Given the description of an element on the screen output the (x, y) to click on. 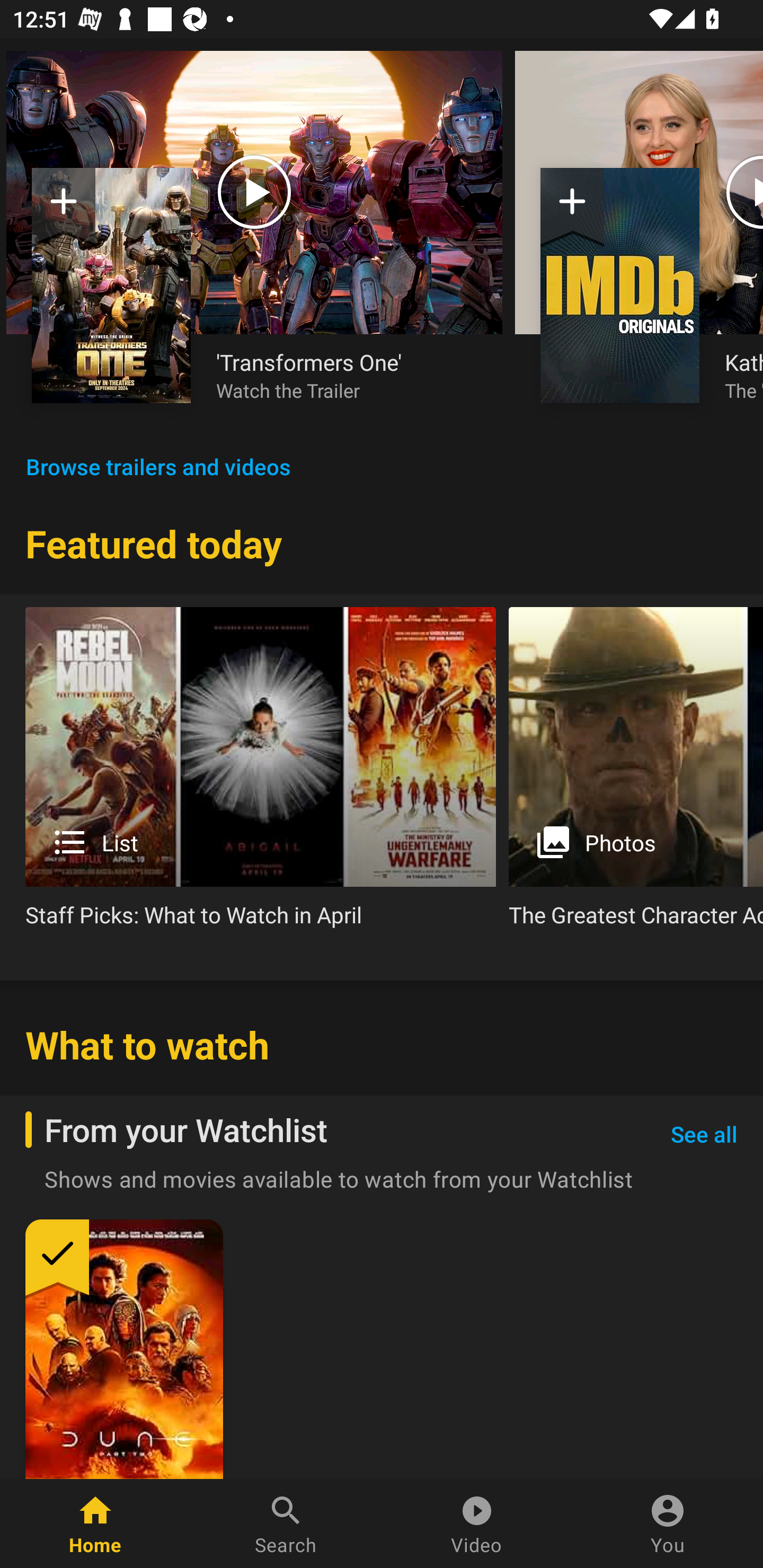
Not in watchlist (111, 284)
Not in watchlist (63, 207)
Not in watchlist (619, 284)
Not in watchlist (572, 207)
'Transformers One' Watch the Trailer (345, 374)
List Staff Picks: What to Watch in April (260, 774)
Photos The Greatest Character Actors of All Time (635, 774)
See all See all From your Watchlist (703, 1134)
Search (285, 1523)
Video (476, 1523)
You (667, 1523)
